Given the description of an element on the screen output the (x, y) to click on. 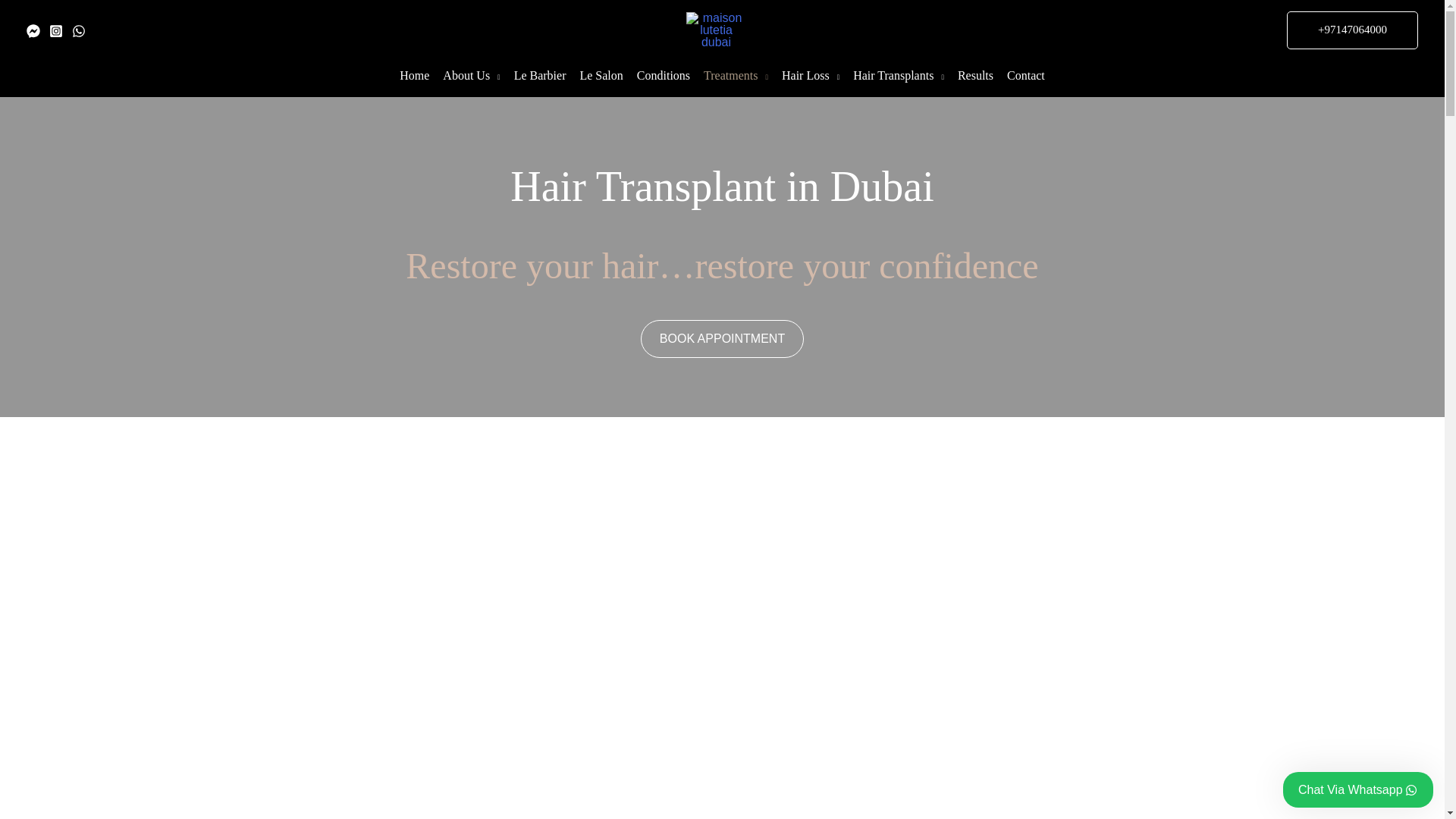
Hair Transplants (897, 77)
Hair Loss (809, 77)
Home (414, 77)
About Us (470, 77)
Le Barbier (539, 77)
Conditions (663, 77)
Treatments (735, 77)
Le Salon (600, 77)
